Given the description of an element on the screen output the (x, y) to click on. 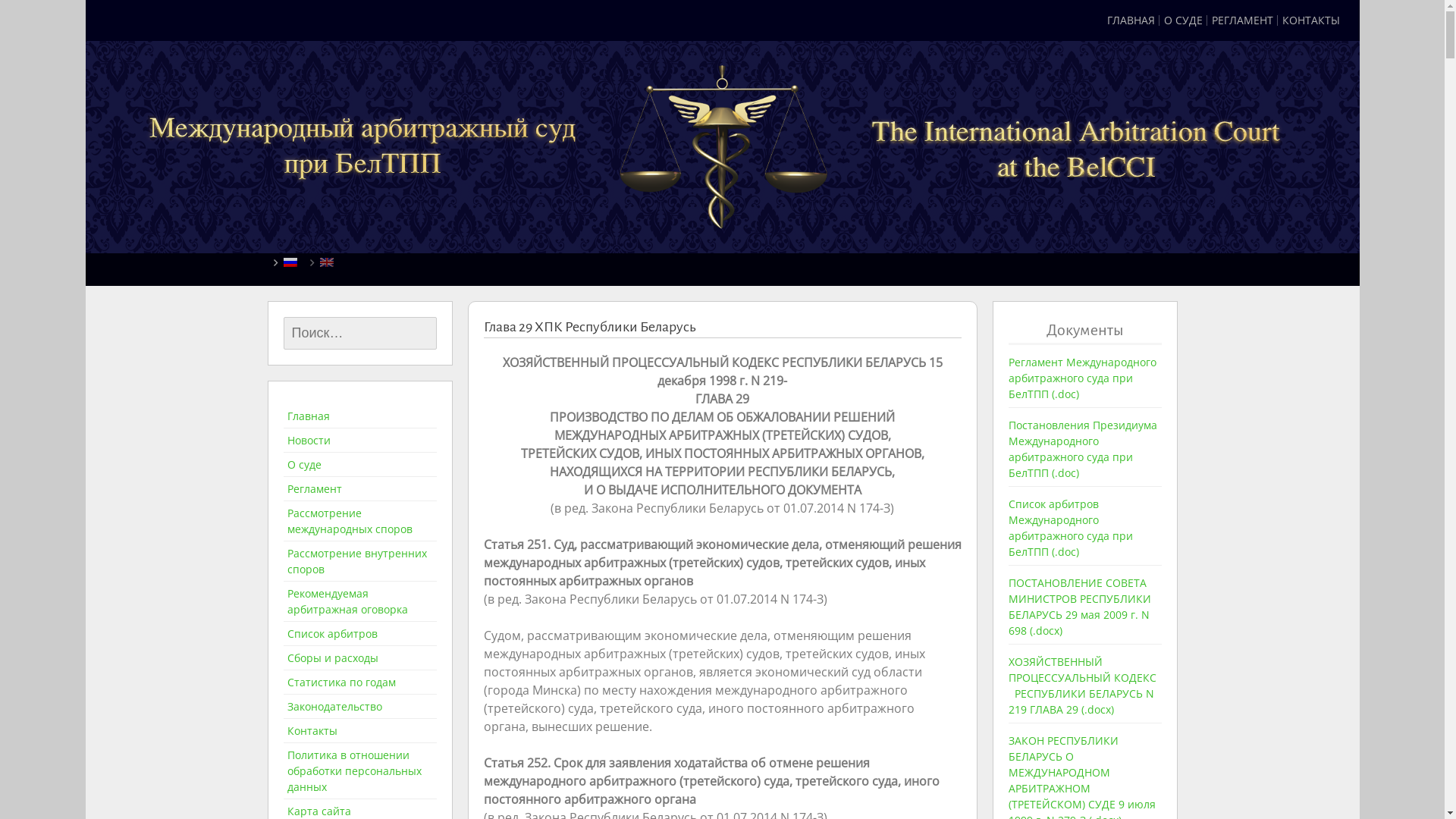
Russian (ru) Element type: hover (290, 261)
English (en) Element type: hover (326, 261)
